Given the description of an element on the screen output the (x, y) to click on. 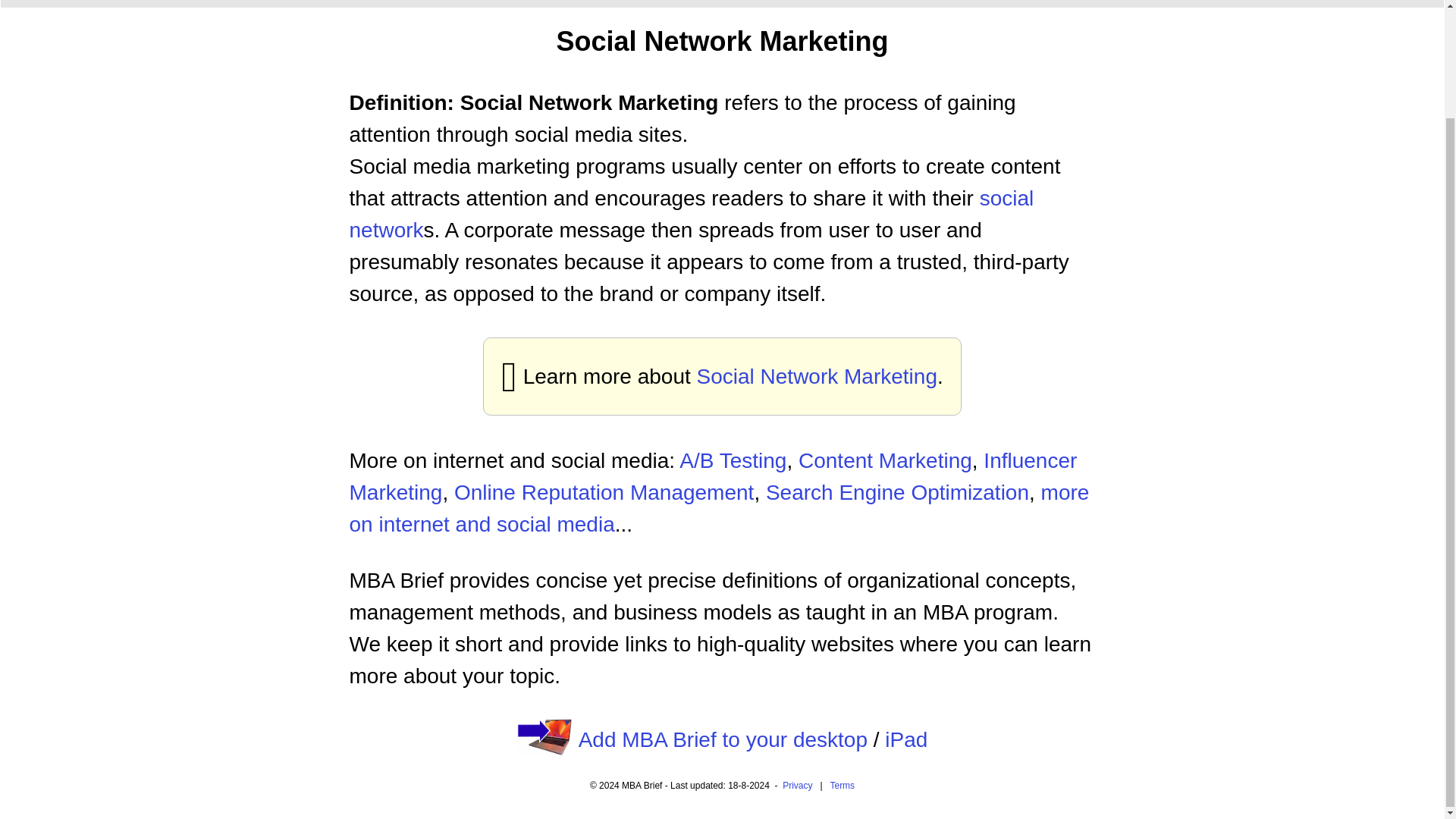
Internet and Social Media methods and models (719, 508)
more on internet and social media (719, 508)
Social Network Marketing (817, 375)
Add MBA Brief to your desktop (722, 739)
iPad (906, 739)
Online Reputation Management (604, 492)
Influencer Marketing (713, 476)
Search Engine Optimization (897, 492)
Content Marketing (884, 460)
Privacy (797, 785)
